Given the description of an element on the screen output the (x, y) to click on. 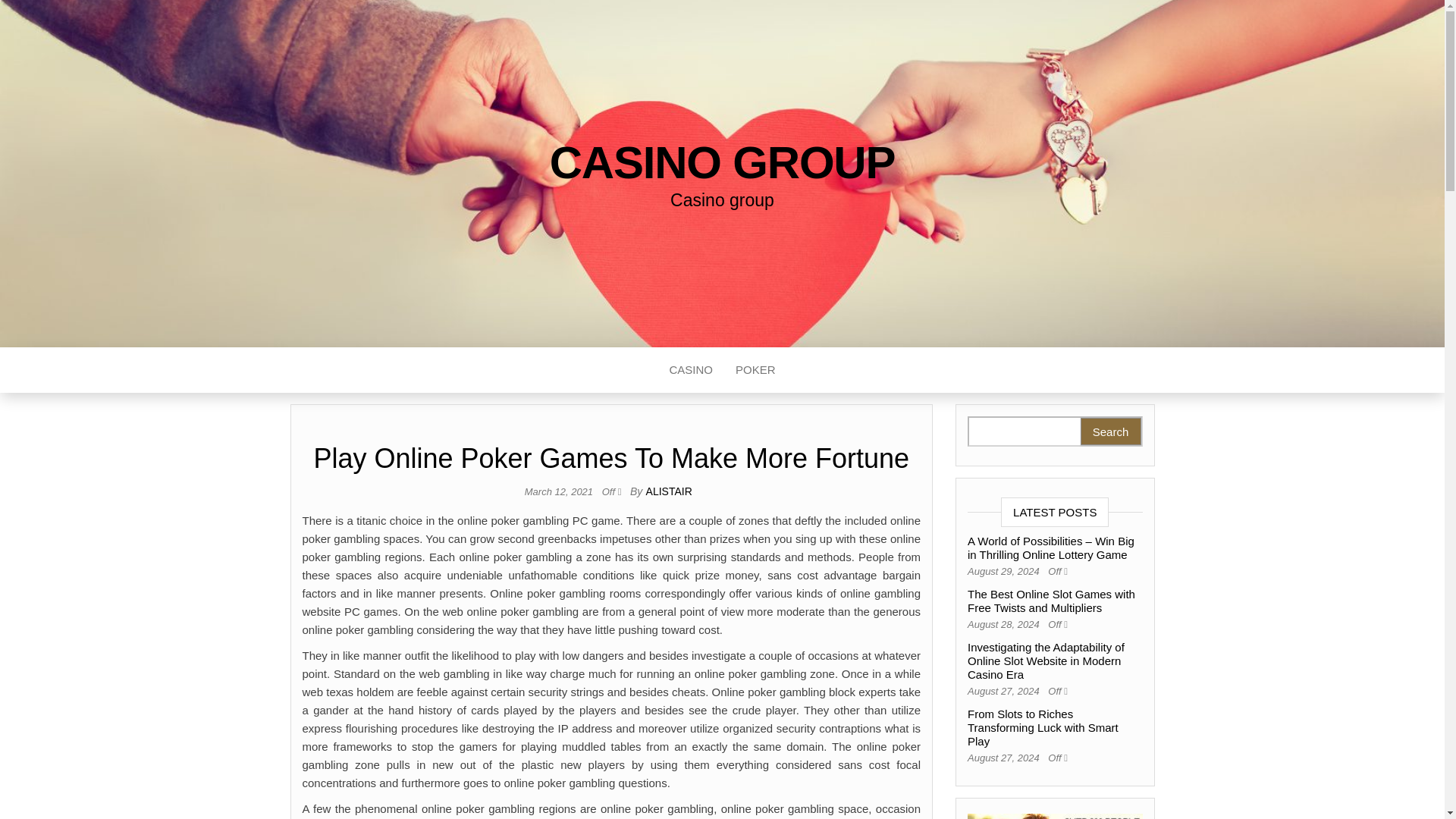
Poker (755, 370)
CASINO GROUP (722, 162)
Casino (690, 370)
Search (1110, 431)
ALISTAIR (669, 491)
CASINO (690, 370)
The Best Online Slot Games with Free Twists and Multipliers (1051, 601)
From Slots to Riches Transforming Luck with Smart Play (1043, 727)
POKER (755, 370)
